Given the description of an element on the screen output the (x, y) to click on. 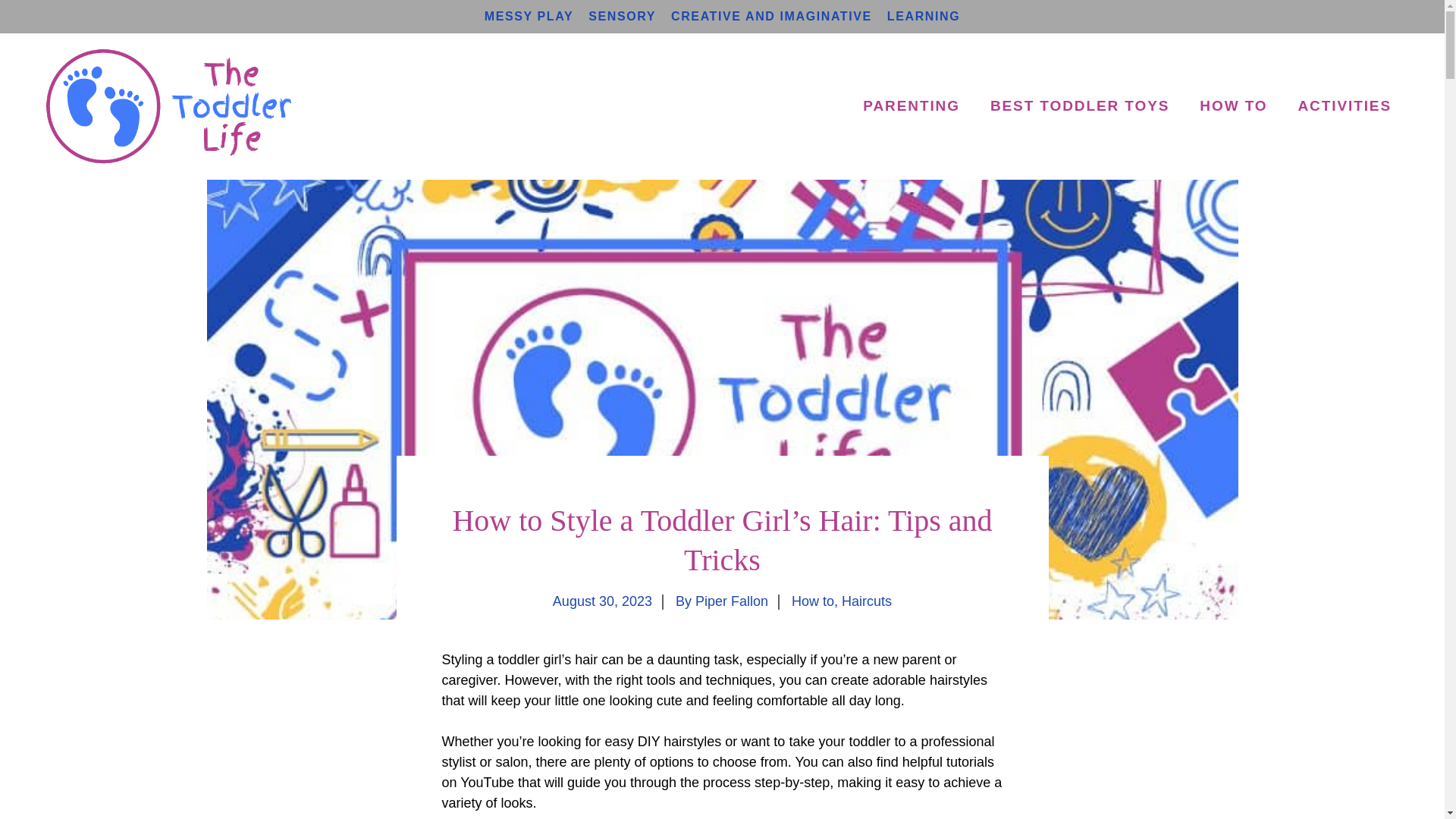
Haircuts (866, 601)
SENSORY (622, 15)
LEARNING (922, 15)
ACTIVITIES (1344, 105)
CREATIVE AND IMAGINATIVE (771, 15)
PARENTING (911, 105)
How to (813, 601)
BEST TODDLER TOYS (1080, 105)
Piper Fallon (731, 601)
MESSY PLAY (528, 15)
HOW TO (1233, 105)
